Given the description of an element on the screen output the (x, y) to click on. 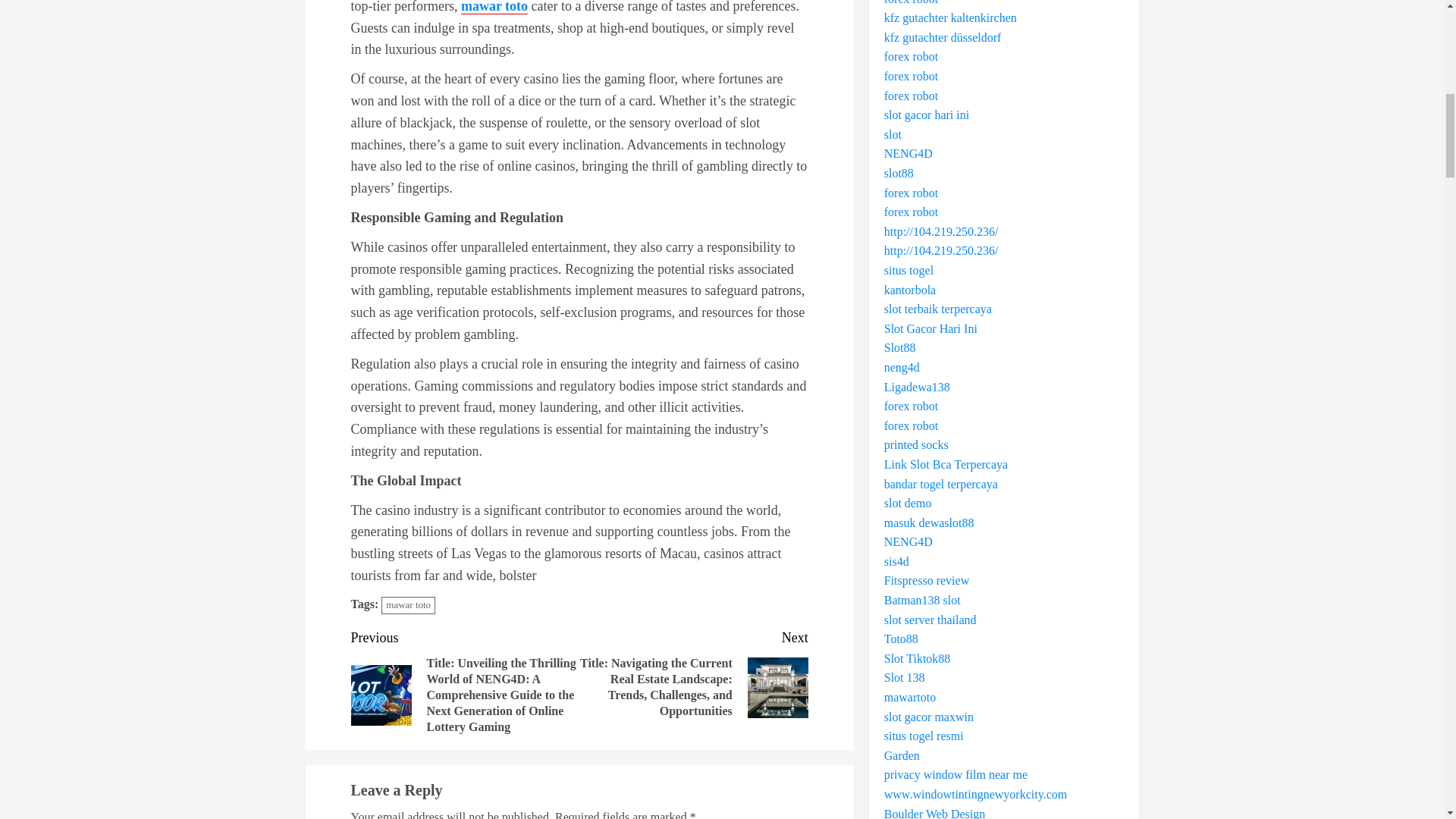
mawar toto (494, 7)
mawar toto (408, 605)
